Given the description of an element on the screen output the (x, y) to click on. 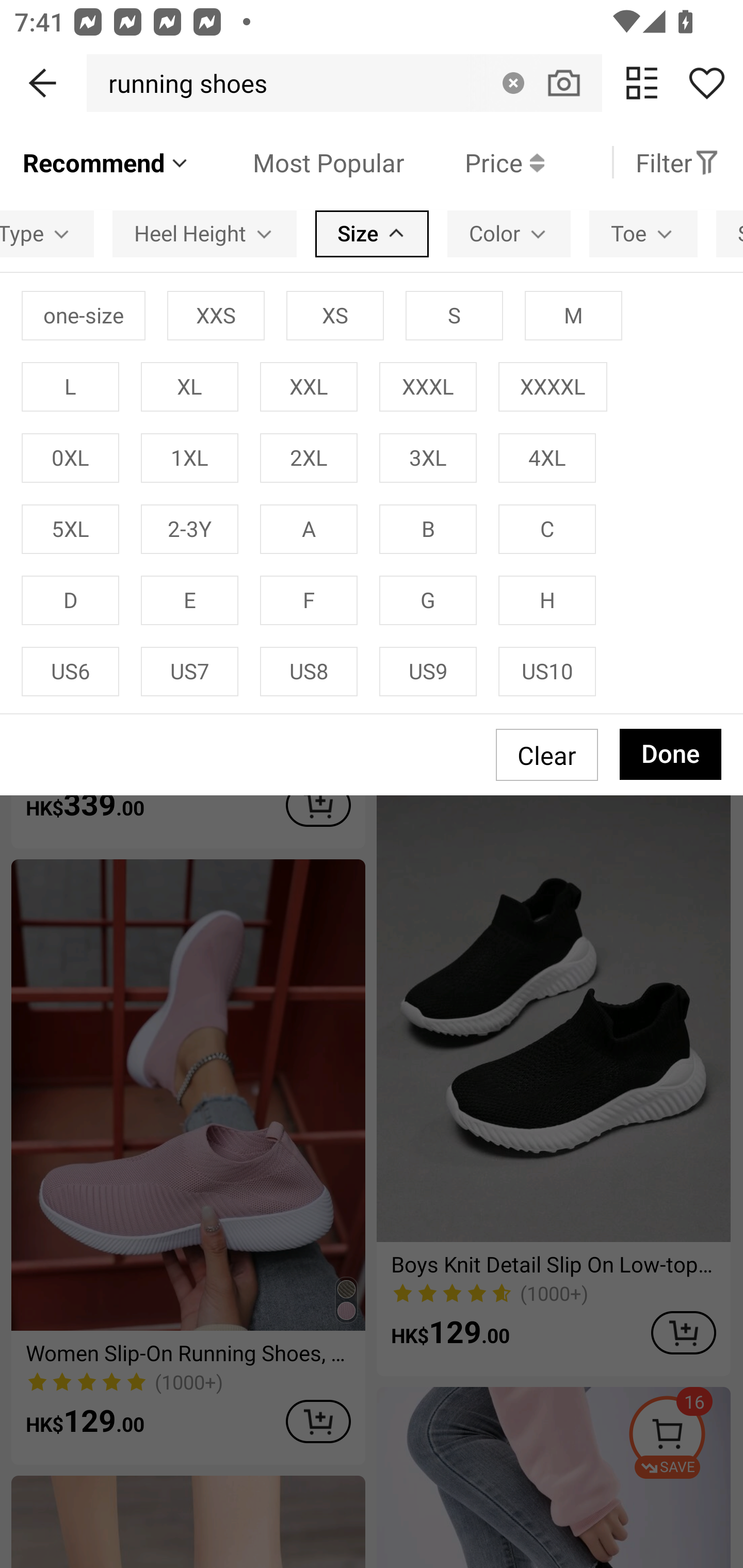
running shoes Clear (343, 82)
running shoes (181, 82)
Clear (513, 82)
change view (641, 82)
Share (706, 82)
Recommend (106, 162)
Most Popular (297, 162)
Price (474, 162)
Filter (677, 162)
Type (46, 233)
Heel Height (204, 233)
Size (371, 233)
Color (508, 233)
Toe (643, 233)
